Given the description of an element on the screen output the (x, y) to click on. 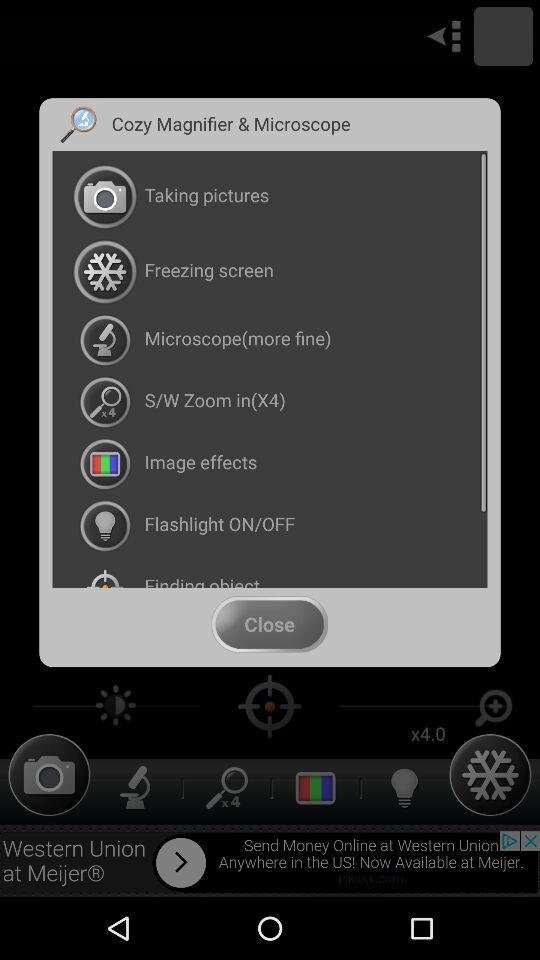
scroll until close button (269, 623)
